Given the description of an element on the screen output the (x, y) to click on. 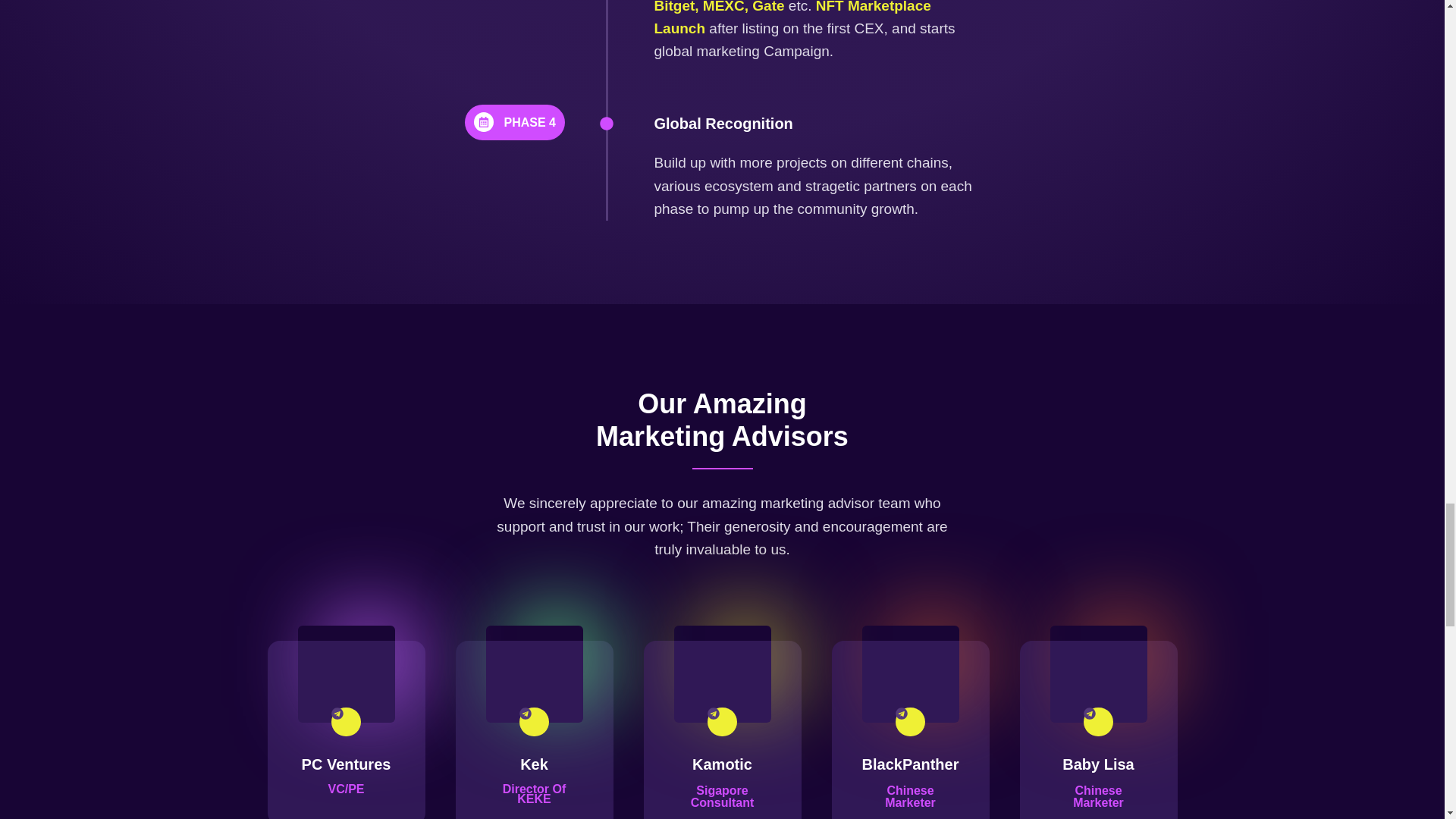
LBANK, Bitmart, CoinW, Bitget, MEXC, Gate (801, 6)
NFT Marketplace Launch (791, 18)
